Given the description of an element on the screen output the (x, y) to click on. 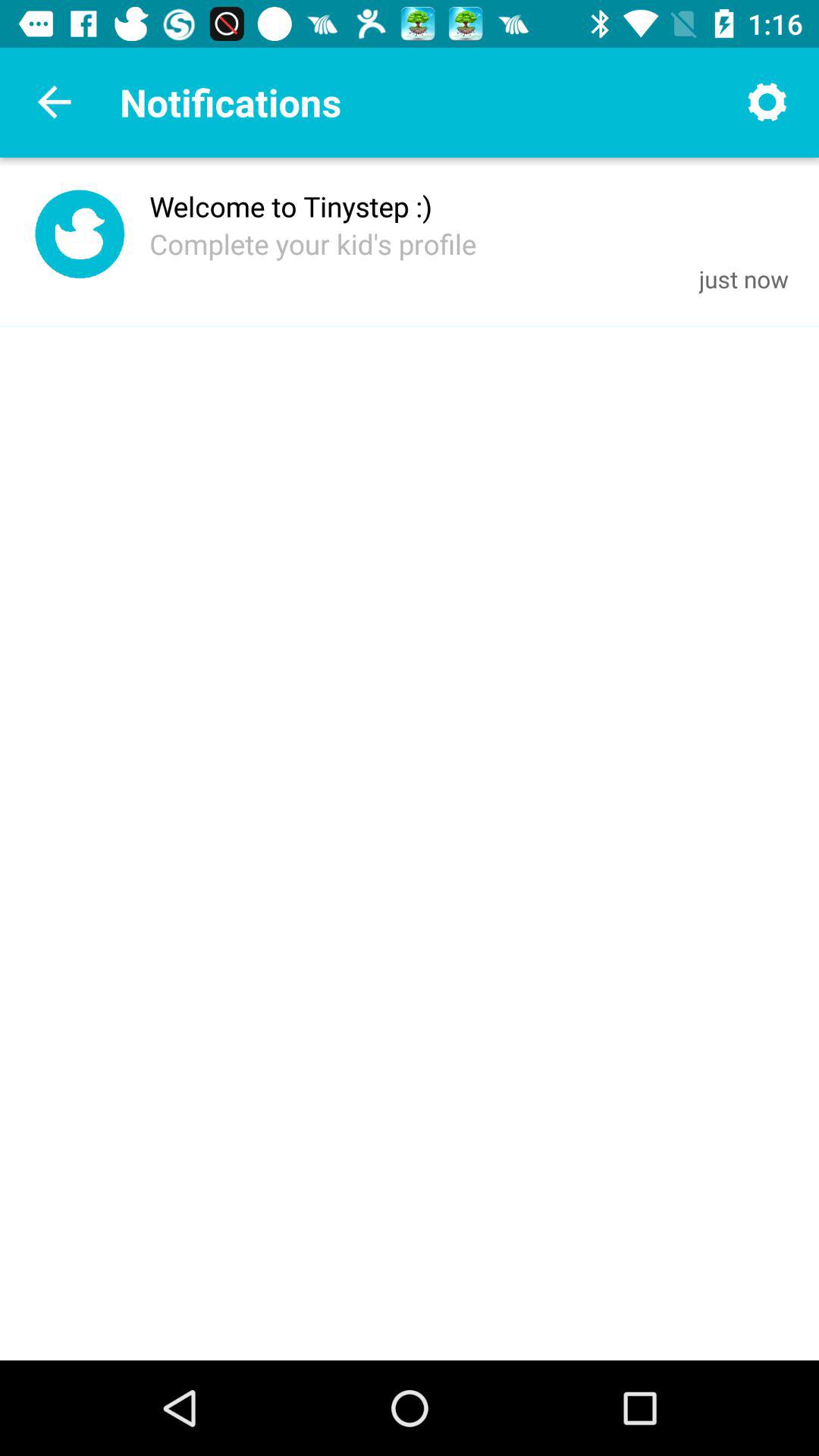
open icon to the right of complete your kid (743, 278)
